Given the description of an element on the screen output the (x, y) to click on. 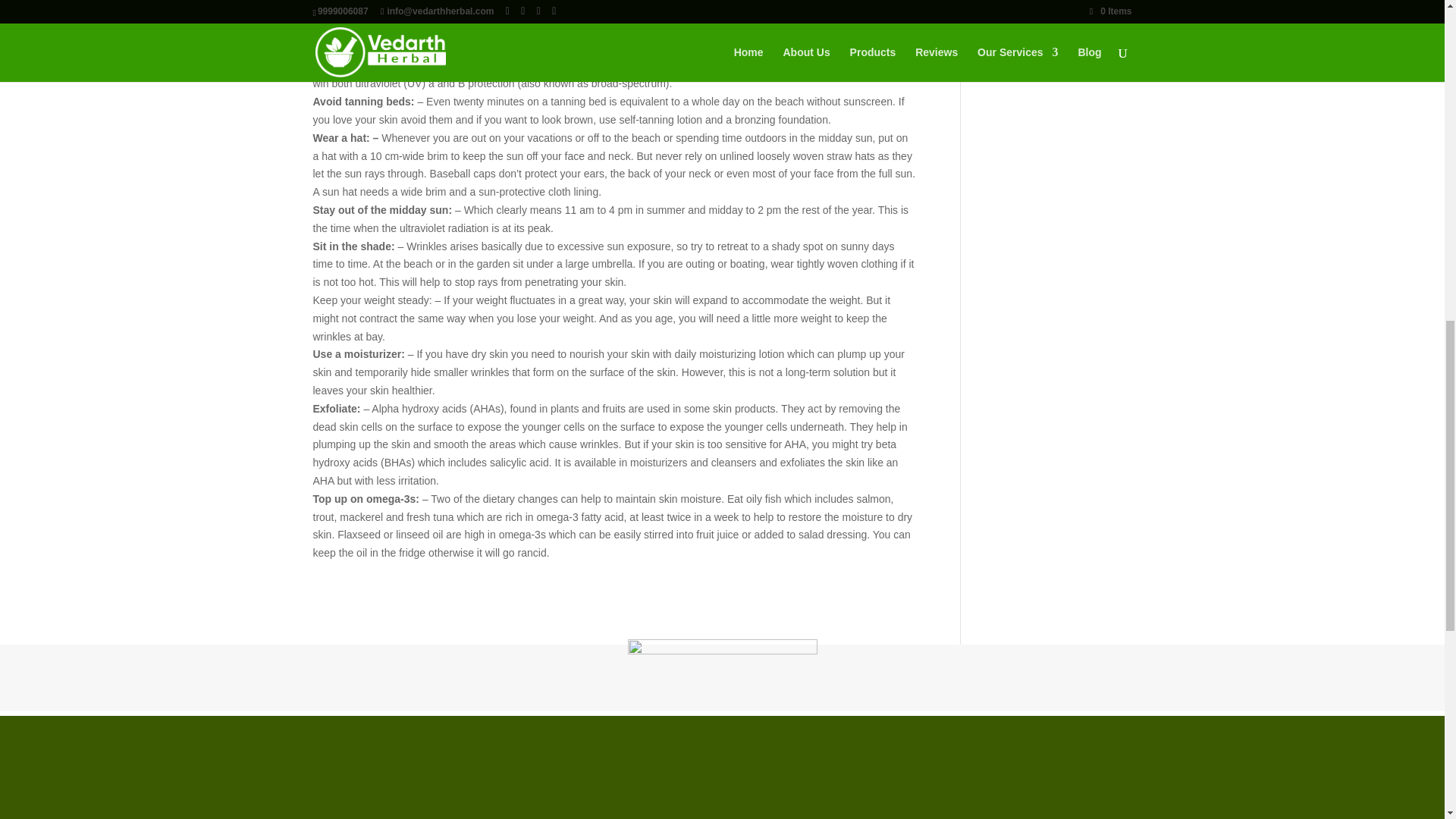
Asset 8icongreen250 (721, 729)
